Given the description of an element on the screen output the (x, y) to click on. 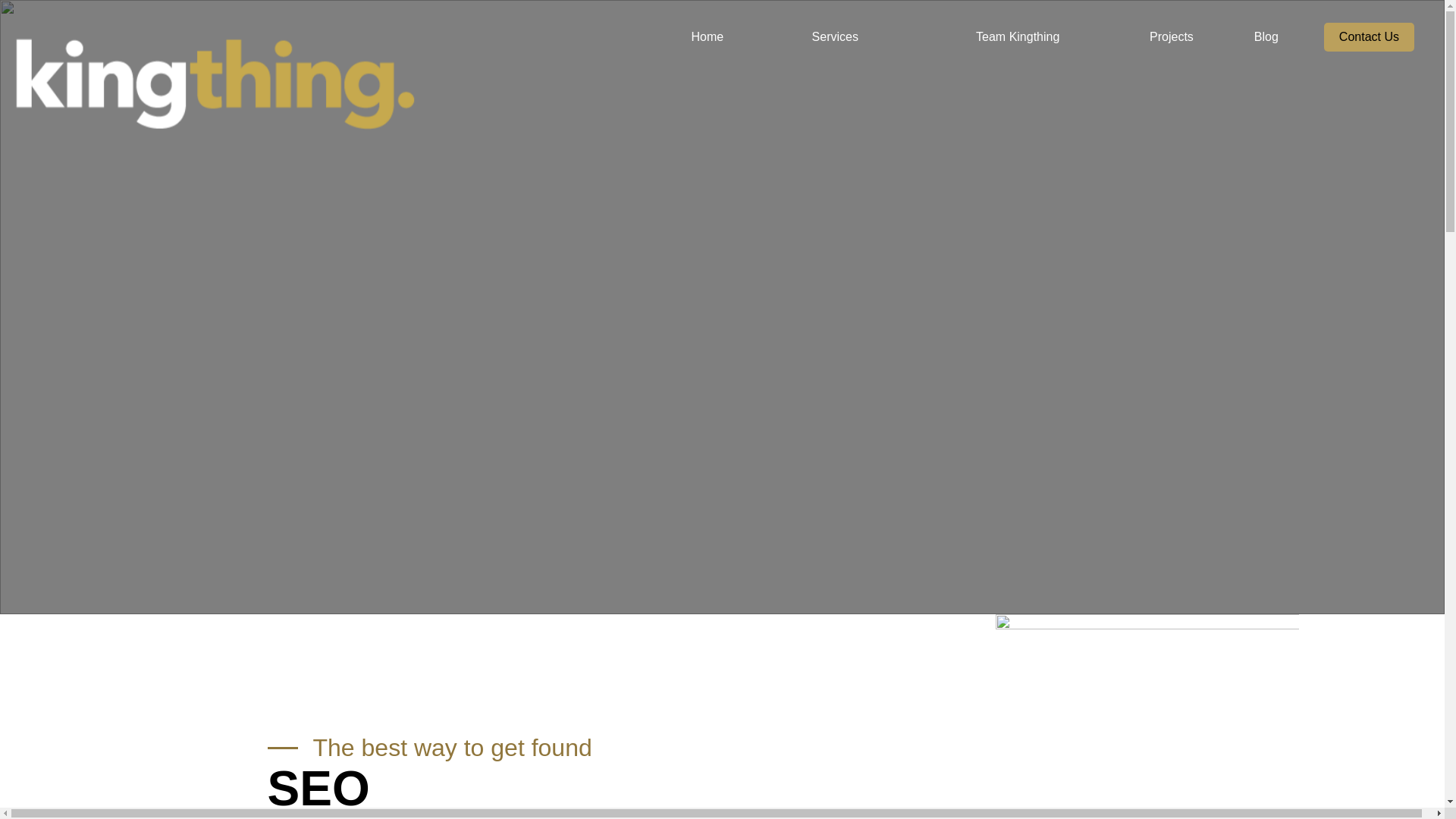
Home (706, 36)
Services (834, 36)
Kingthing Marketing home page (145, 59)
Team Kingthing (1017, 36)
